Given the description of an element on the screen output the (x, y) to click on. 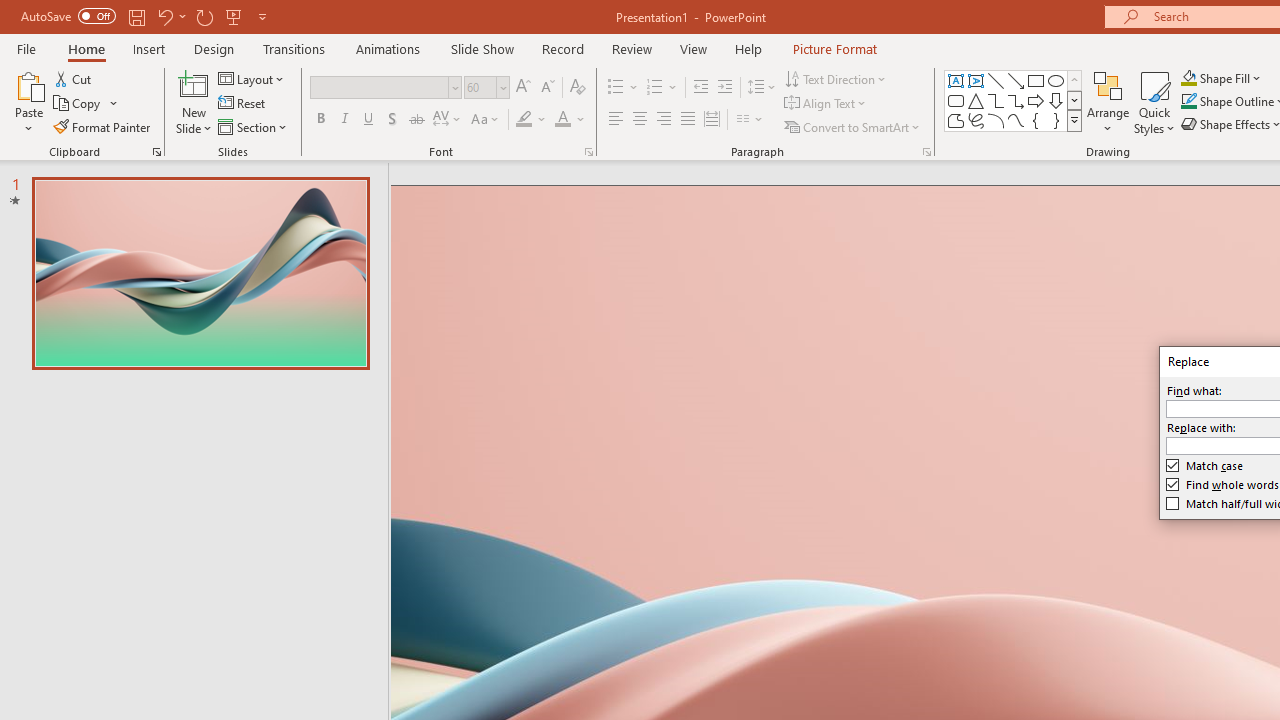
Picture Format (834, 48)
